Given the description of an element on the screen output the (x, y) to click on. 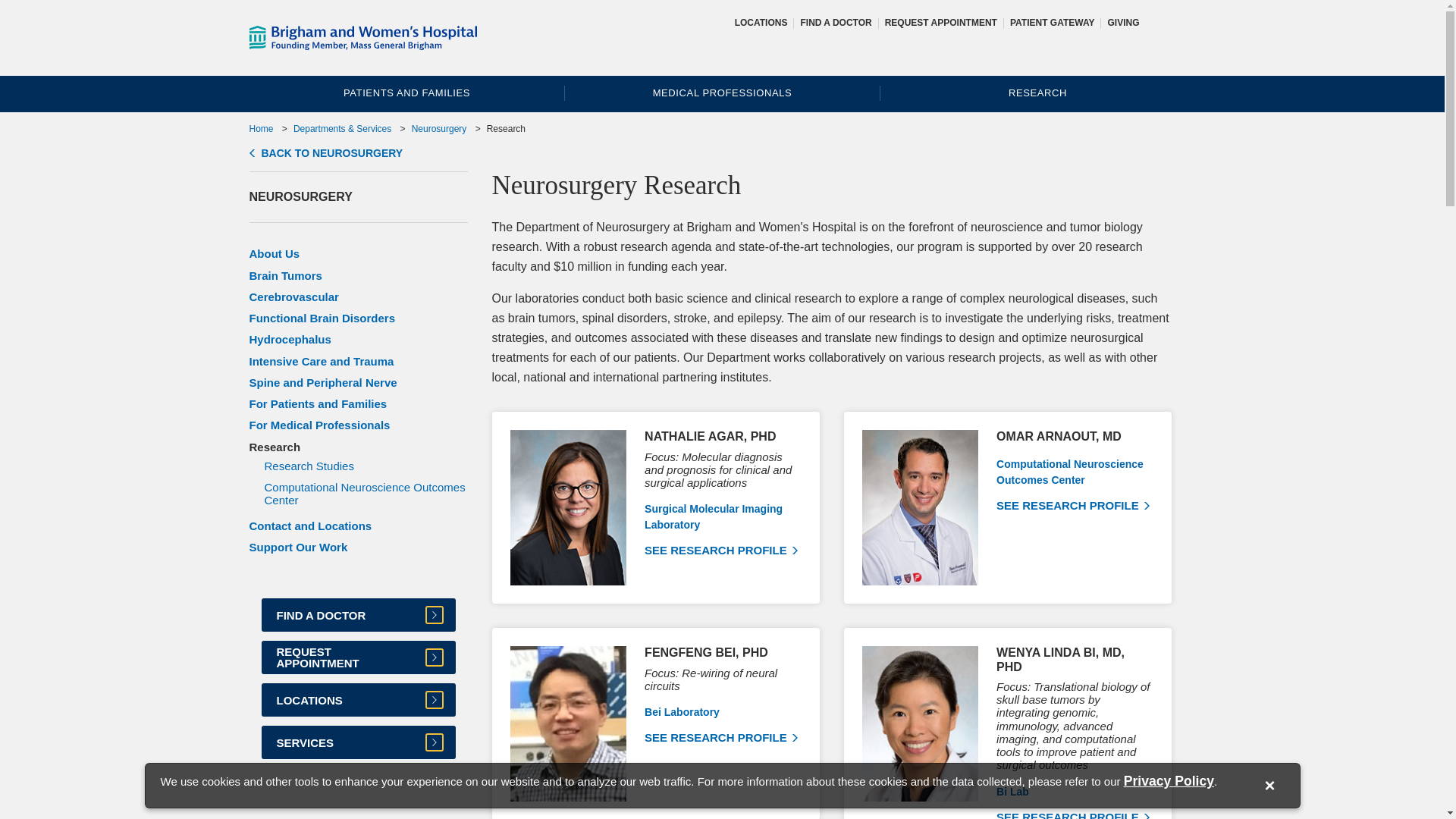
FIND A DOCTOR (834, 22)
 Neurosurgery (325, 152)
LOCATIONS (761, 22)
RESEARCH (1037, 93)
Research at Brigham and Women's Hospital (1037, 93)
Bi Lab (1012, 791)
Bei Laboratory (682, 711)
Request an Appointment at Brigham and Women's Hospital (941, 22)
GIVING (1122, 22)
Patient Gateway (1072, 504)
Home (1052, 22)
Information for Patients and Families (260, 128)
